Given the description of an element on the screen output the (x, y) to click on. 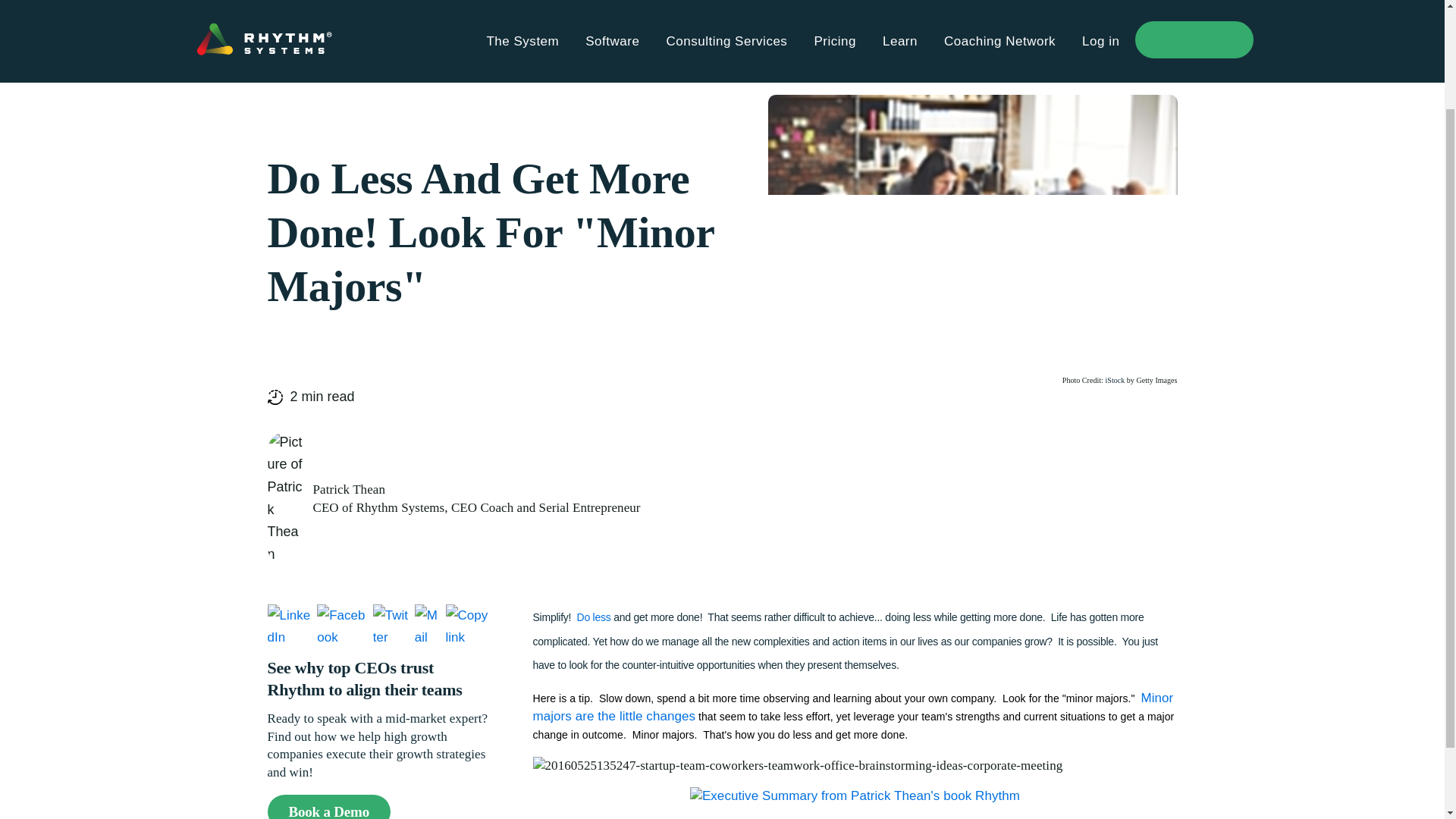
Strategy Execution (474, 62)
Strategies for Growth (336, 62)
Share on LinkedIn (289, 626)
iStock (1114, 379)
Do less (595, 616)
Share on Facebook (343, 626)
Minor majors are the little changes (852, 707)
Copy link (470, 626)
